Given the description of an element on the screen output the (x, y) to click on. 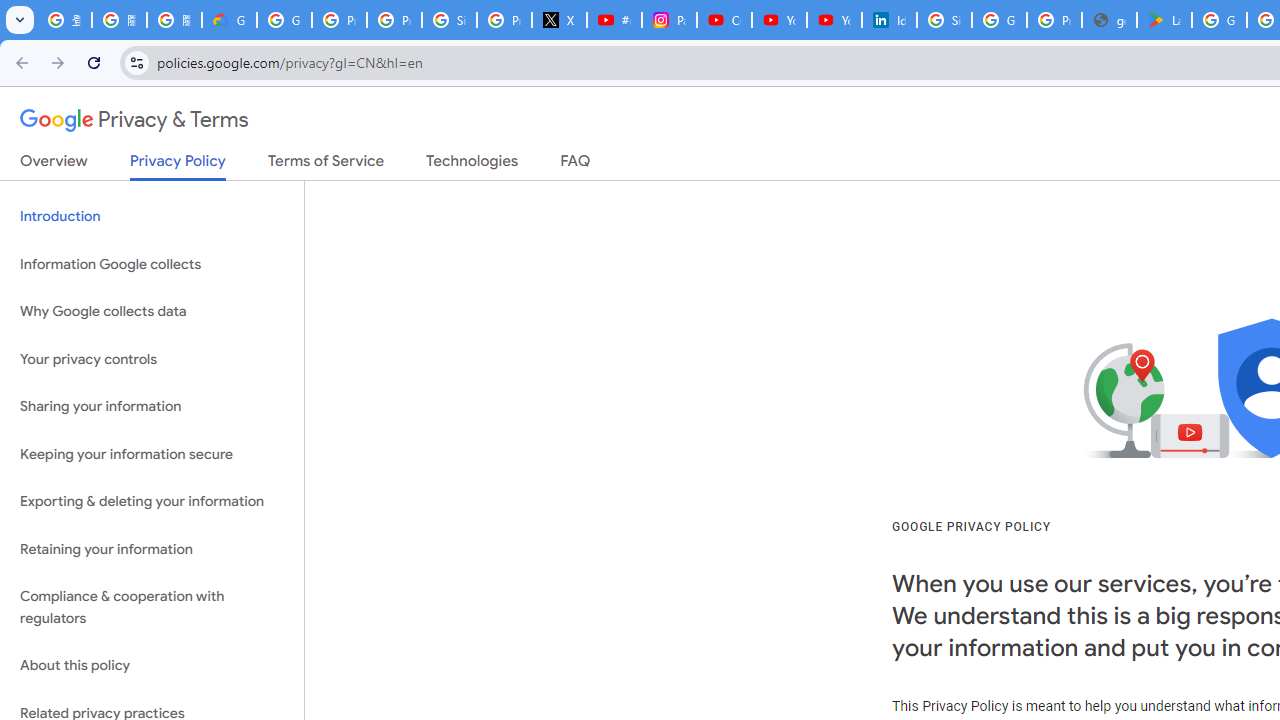
Introduction (152, 216)
Information Google collects (152, 263)
Why Google collects data (152, 312)
Technologies (472, 165)
Keeping your information secure (152, 453)
#nbabasketballhighlights - YouTube (614, 20)
Last Shelter: Survival - Apps on Google Play (1163, 20)
